Given the description of an element on the screen output the (x, y) to click on. 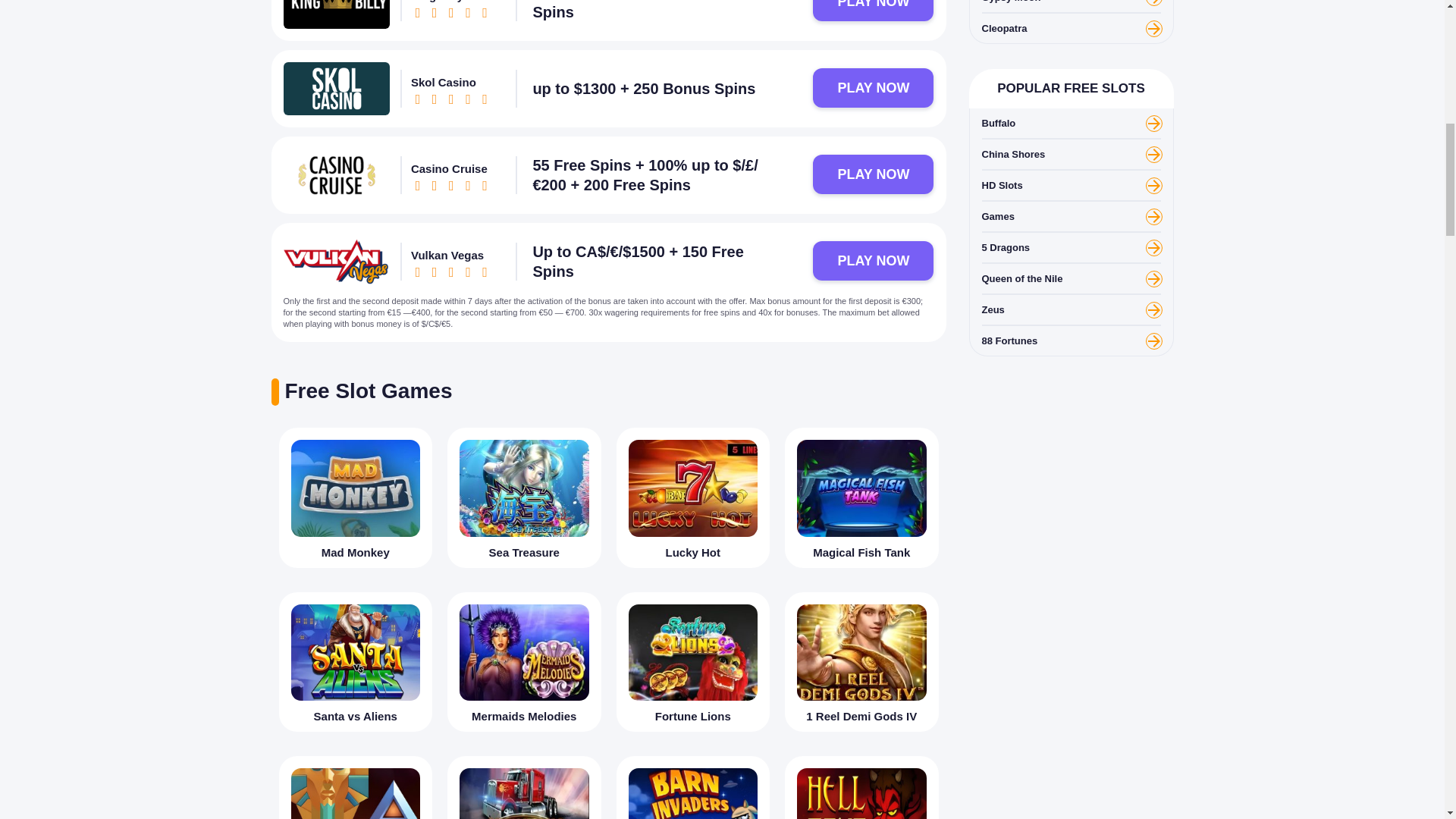
Sea Treasure (523, 497)
Santa vs Aliens (355, 662)
Magical-Fish-Tank (861, 488)
Fortune Lions (692, 662)
Santa-vs-Aliens (355, 652)
1-Reel-Demi-Gods-IV (861, 652)
Megablox Pyramids (355, 787)
1 Reel Demi Gods IV (861, 662)
Mermaids-Melodies (524, 652)
Mermaids Melodies (523, 662)
Fortune-Lions-GameArt (692, 652)
Lucky Hot (692, 497)
Sea-Treasure-OneTouch (524, 488)
Magical Fish Tank (861, 497)
Lucky-Hot (692, 488)
